Given the description of an element on the screen output the (x, y) to click on. 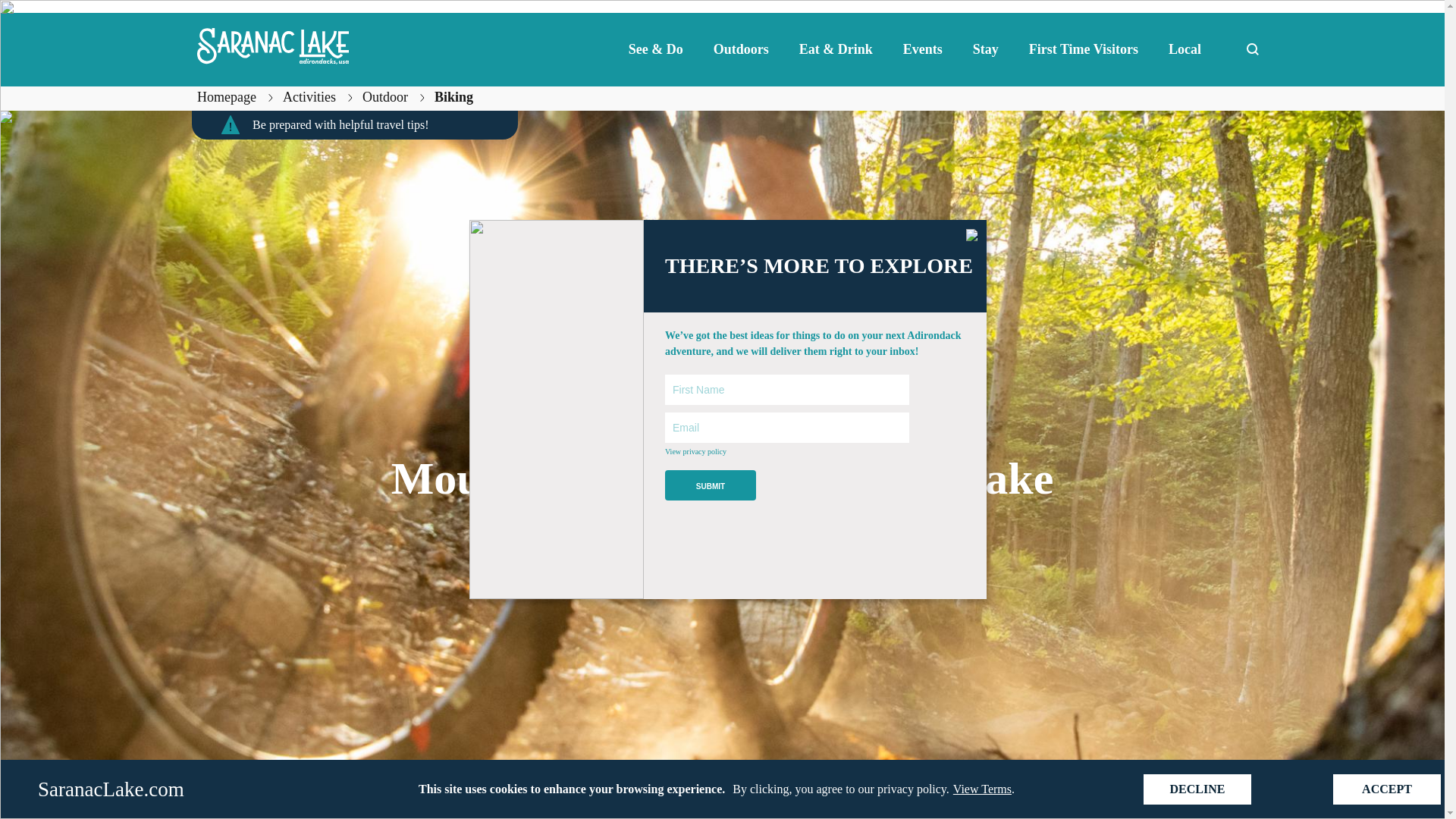
Outdoors (741, 48)
Submit (710, 485)
